Given the description of an element on the screen output the (x, y) to click on. 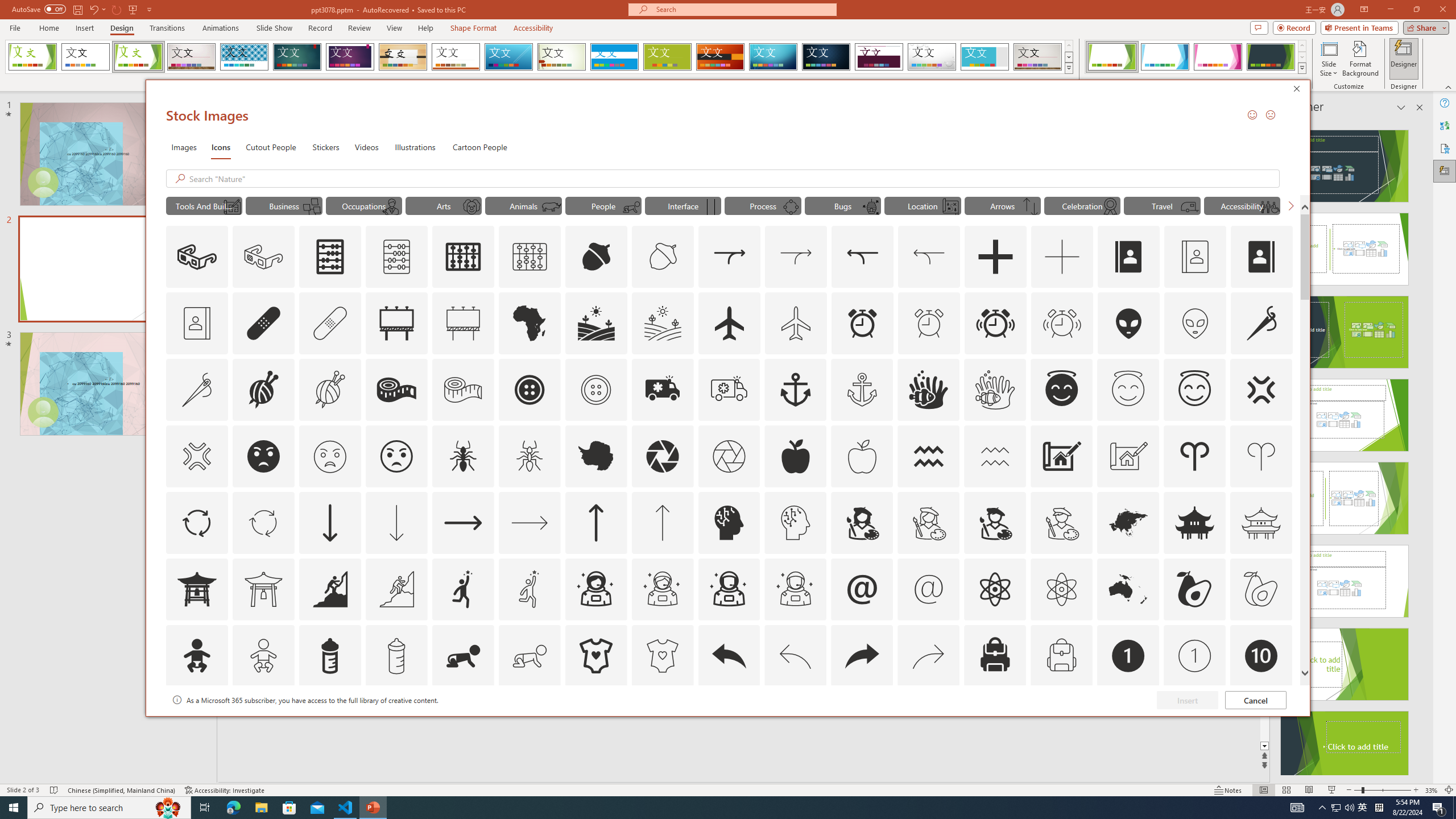
AutomationID: Icons_Add_M (1062, 256)
AutomationID: _134_Angel_Face_A (1061, 388)
AutomationID: Icons_AddressBook_LTR_M (1194, 256)
AutomationID: Icons_Badge4 (529, 721)
AutomationID: Icons_AstronautFemale (595, 588)
AutomationID: Icons_Abacus1_M (529, 256)
AutomationID: Icons_Atom (995, 588)
AutomationID: Icons_Pause_M (710, 206)
